Given the description of an element on the screen output the (x, y) to click on. 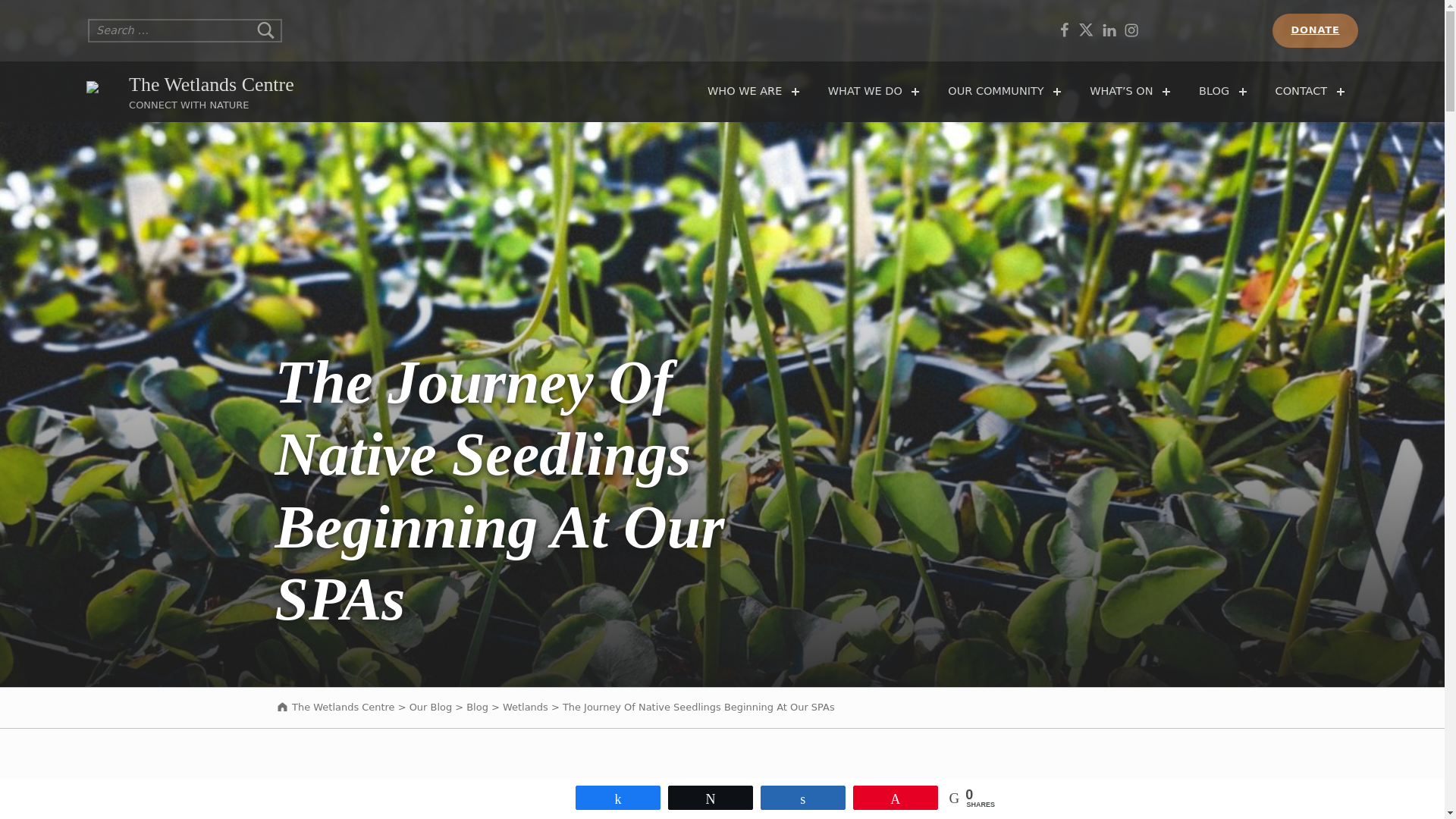
Go to Our BlogThe latest wetland news and stories. (430, 706)
Go to The Wetlands Centre. (334, 706)
Go to the Wetlands Category archives. (525, 706)
The Wetlands Centre (211, 84)
WHAT WE DO (866, 91)
Go to the Blog Category archives. (476, 706)
WHO WE ARE (746, 91)
Get the best WordPress themes! (1131, 30)
